Given the description of an element on the screen output the (x, y) to click on. 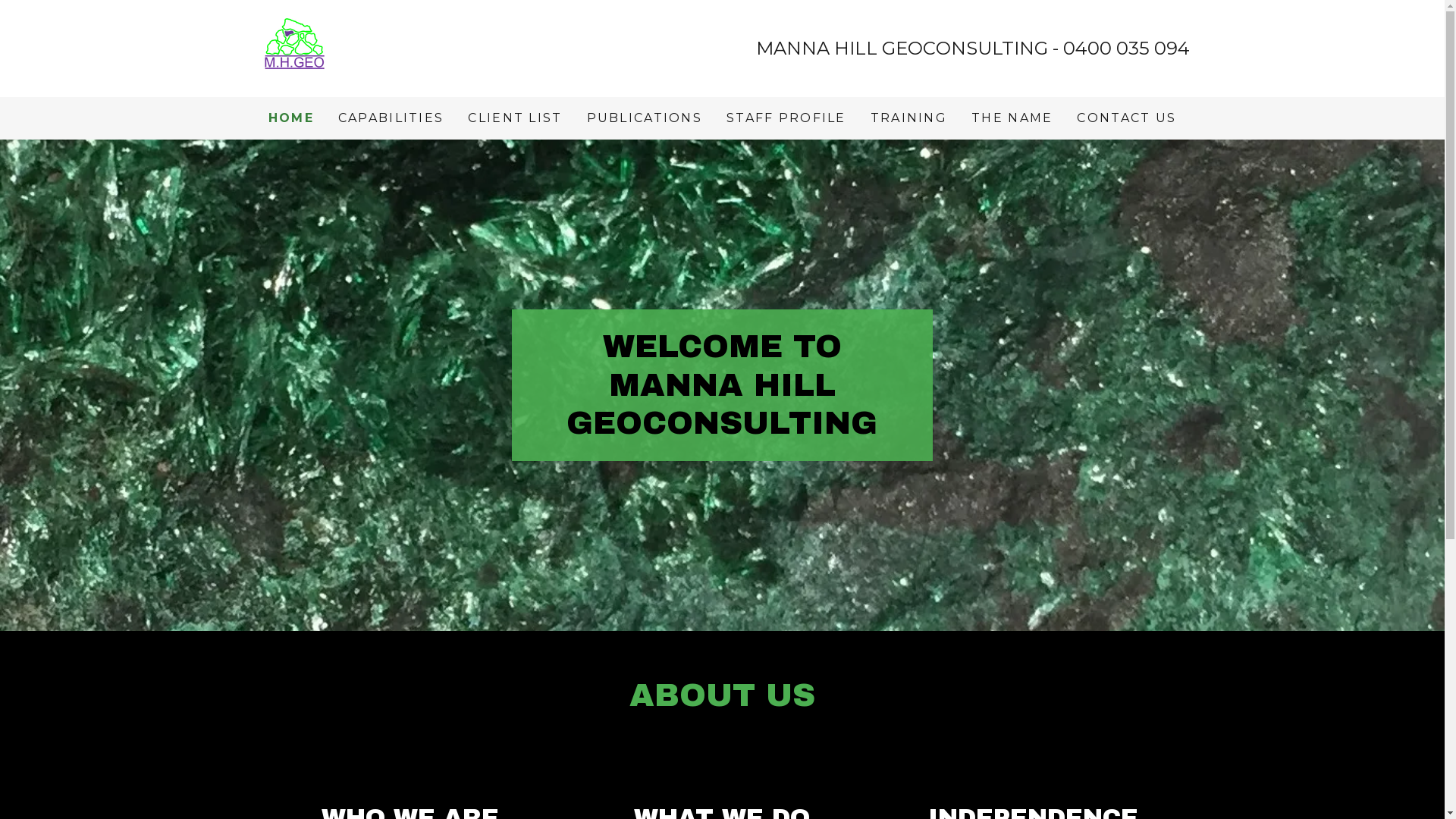
THE NAME Element type: text (1011, 117)
STAFF PROFILE Element type: text (785, 117)
HOME Element type: text (290, 118)
Manna Hill Geoconsulting Element type: hover (293, 47)
CAPABILITIES Element type: text (390, 117)
0400 035 094 Element type: text (1126, 48)
CLIENT LIST Element type: text (514, 117)
TRAINING Element type: text (908, 117)
PUBLICATIONS Element type: text (644, 117)
CONTACT US Element type: text (1126, 117)
